Given the description of an element on the screen output the (x, y) to click on. 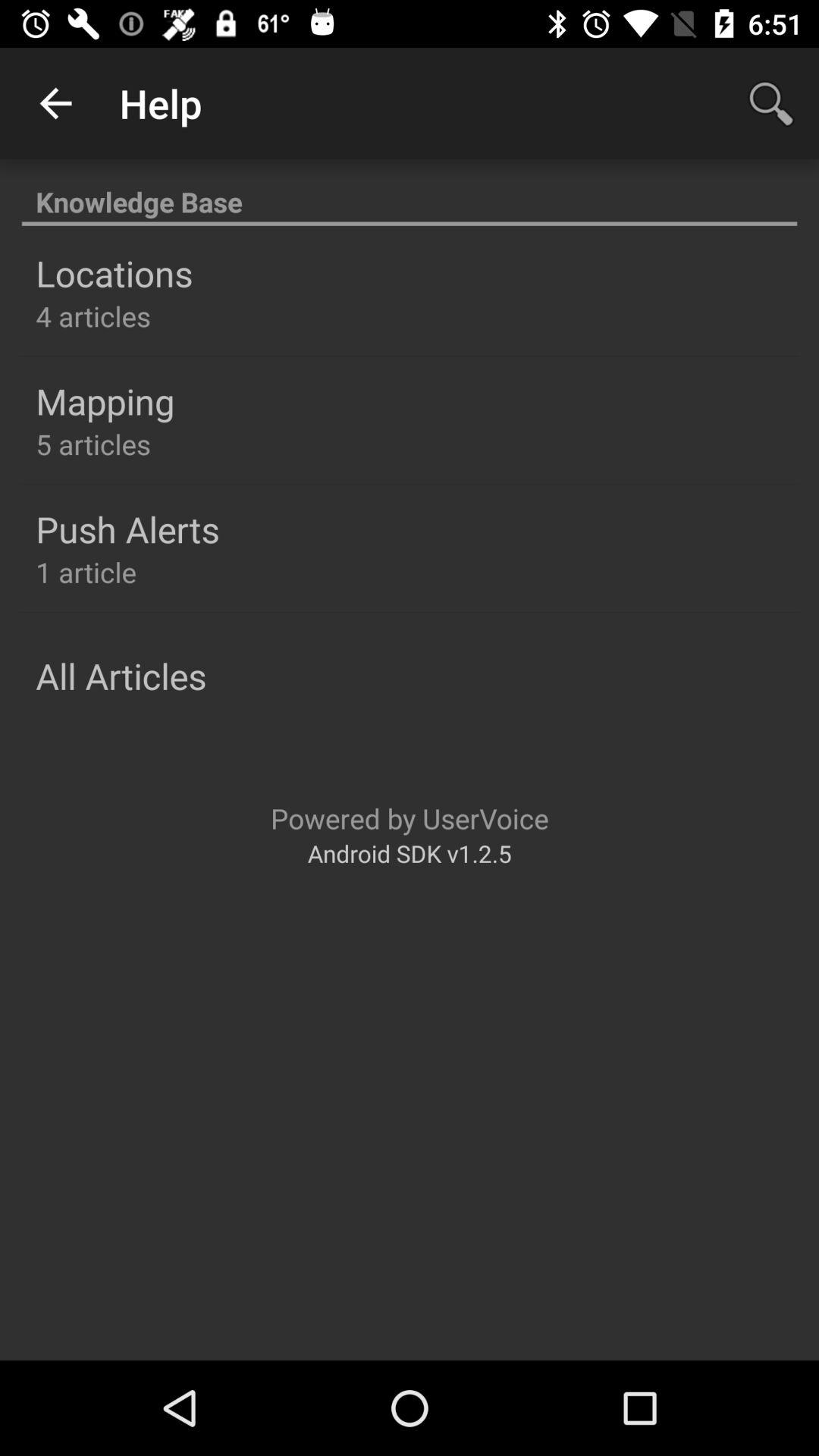
tap the app to the left of help app (55, 103)
